Given the description of an element on the screen output the (x, y) to click on. 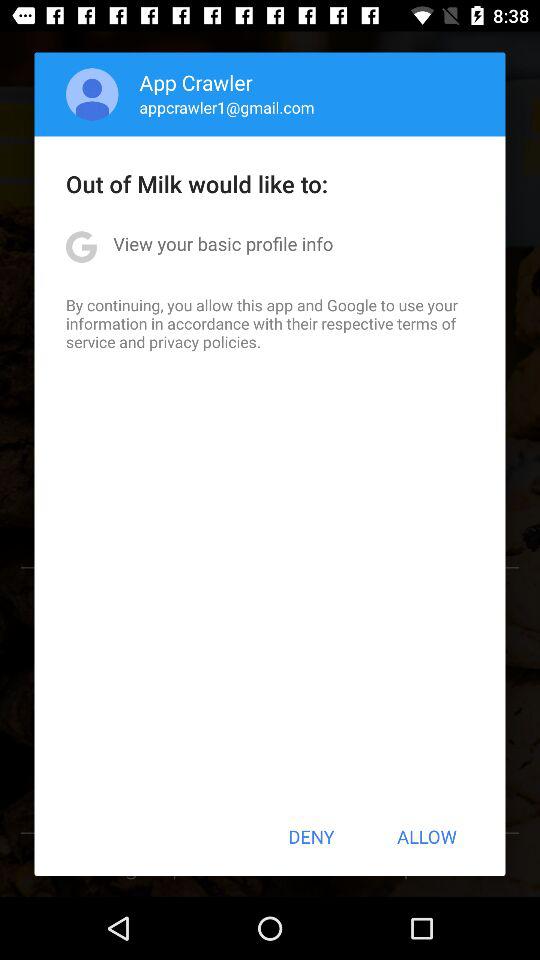
click the deny button (311, 836)
